Given the description of an element on the screen output the (x, y) to click on. 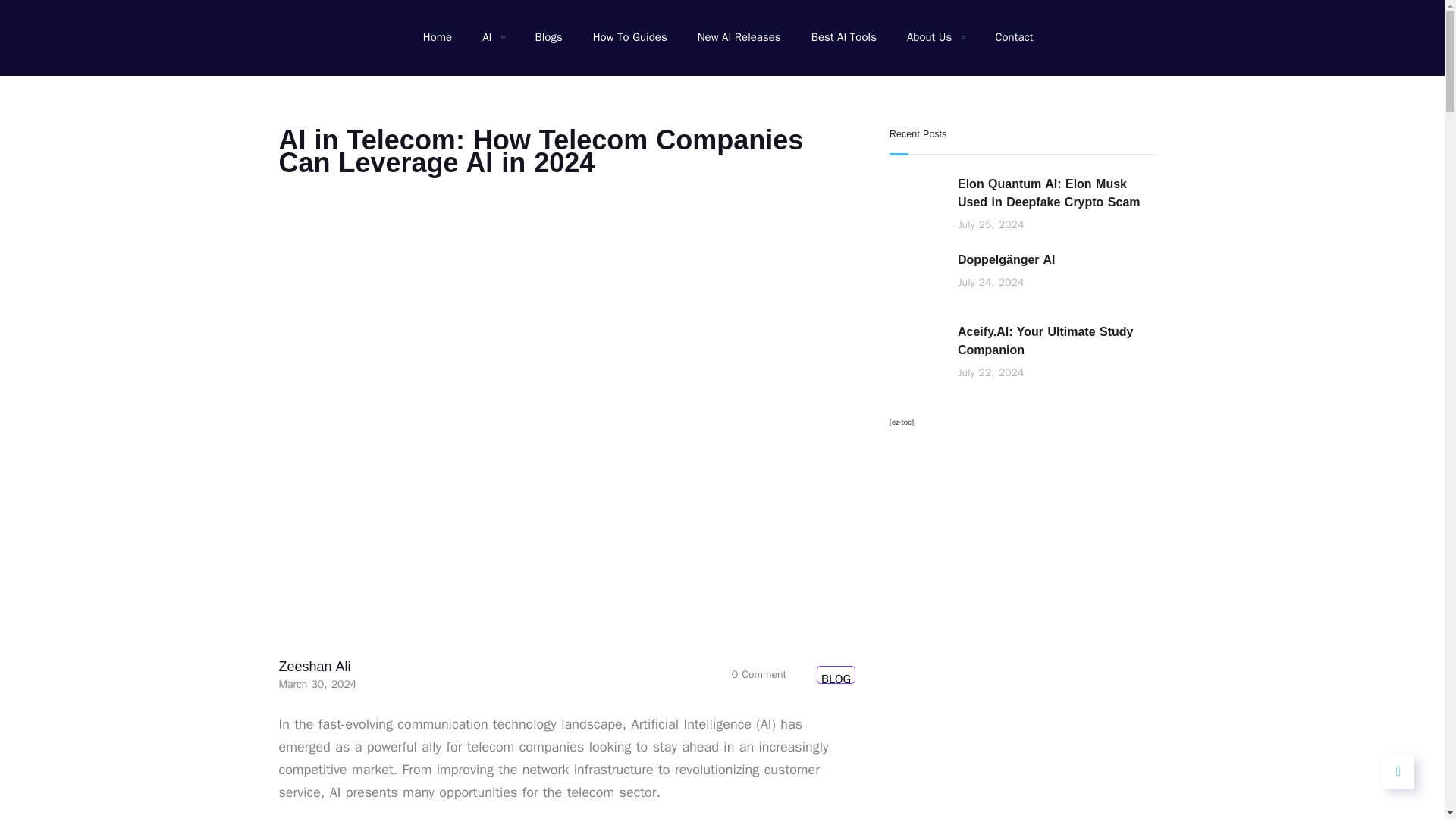
About Us (935, 37)
AI (492, 37)
Best AI Tools (843, 37)
How To Guides (629, 37)
Blogs (548, 37)
Contact (1013, 37)
Home (437, 37)
BLOG (836, 674)
New AI Releases (738, 37)
